Given the description of an element on the screen output the (x, y) to click on. 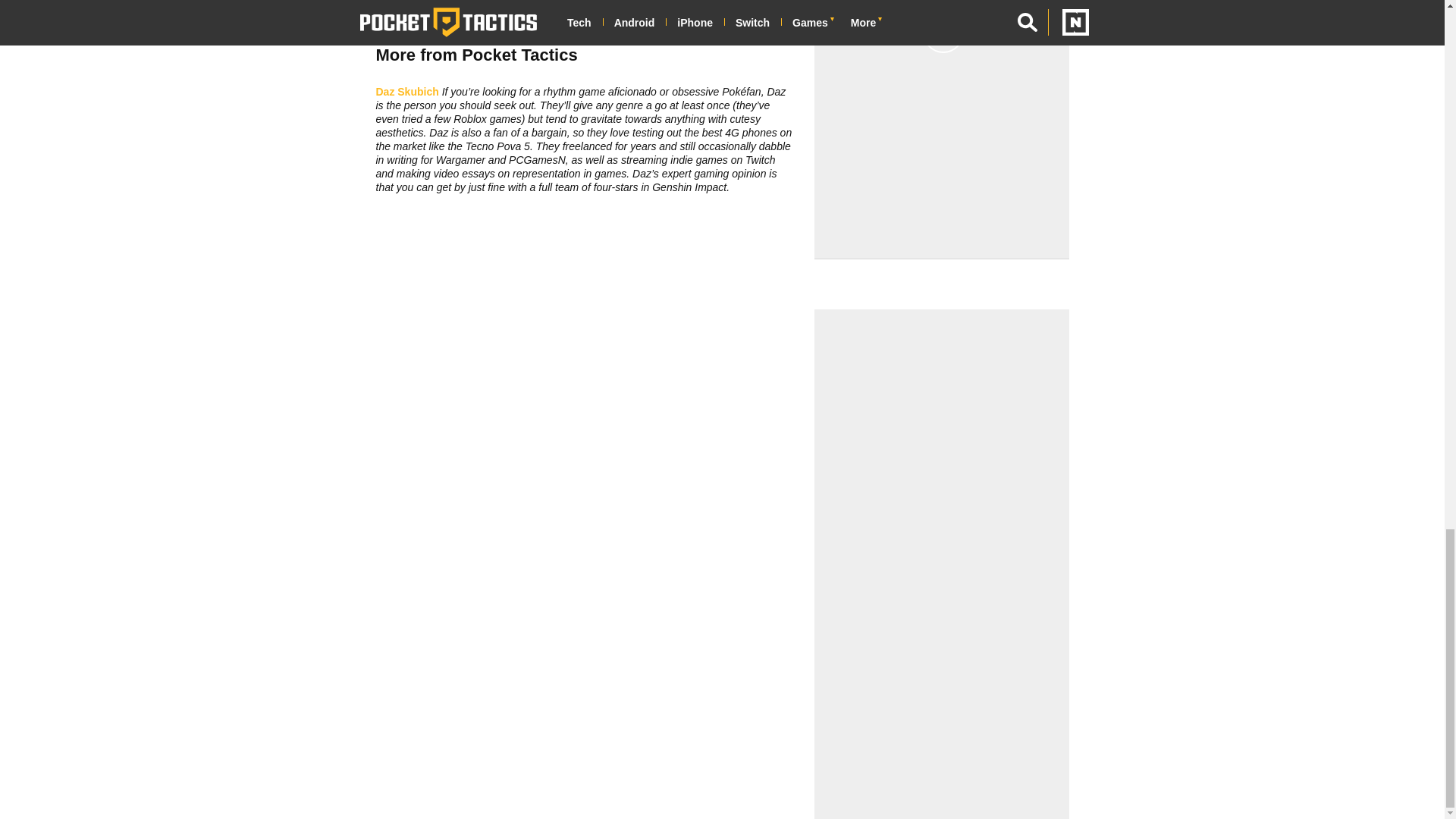
Mario movie character designs (669, 20)
Daz Skubich (407, 91)
